Given the description of an element on the screen output the (x, y) to click on. 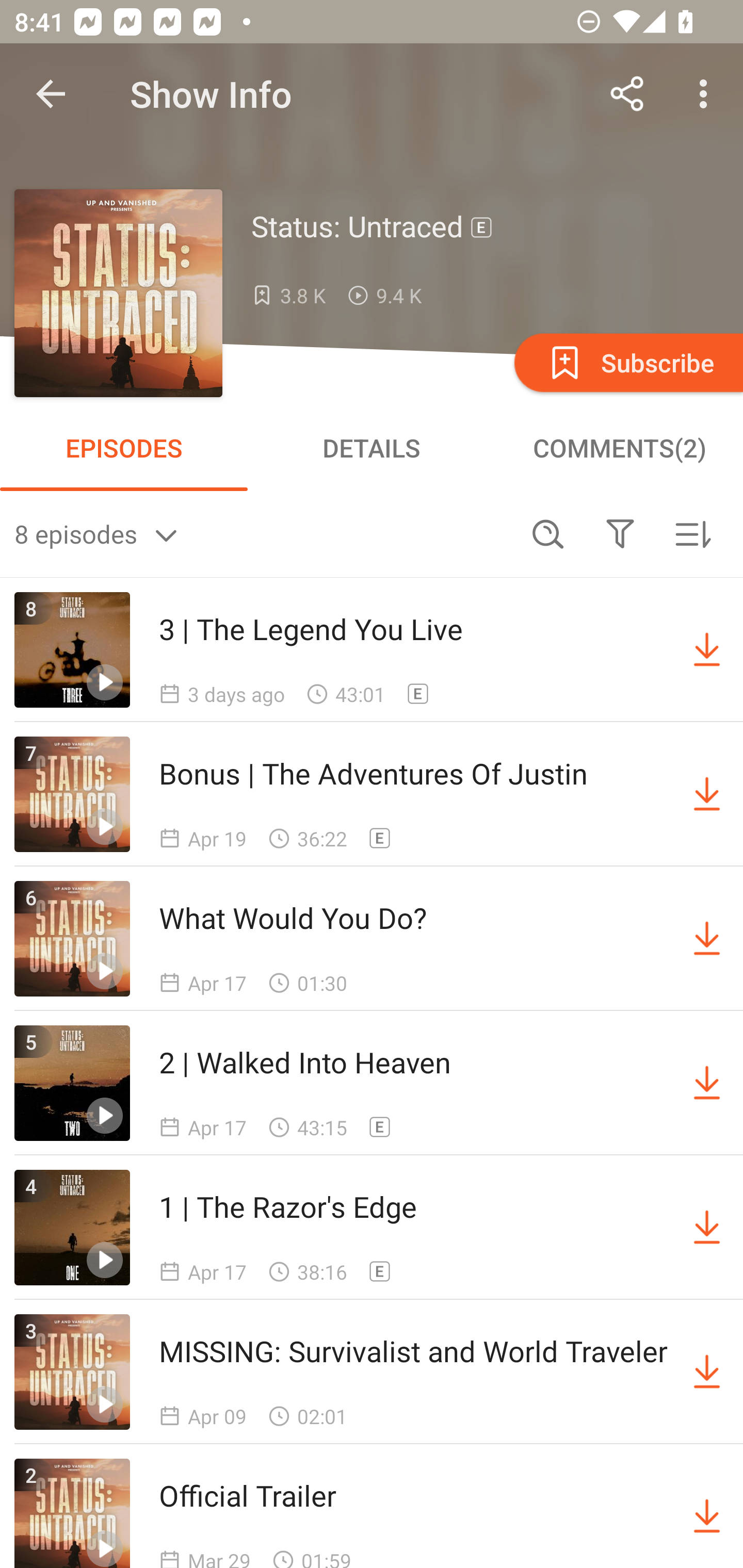
Navigate up (50, 93)
Share (626, 93)
More options (706, 93)
Subscribe (627, 361)
EPISODES (123, 447)
DETAILS (371, 447)
COMMENTS(2) (619, 447)
8 episodes  (262, 533)
 Search (547, 533)
 (619, 533)
 Sorted by newest first (692, 533)
Download (706, 649)
Download (706, 793)
Download (706, 939)
Download (706, 1083)
Download (706, 1227)
Download (706, 1371)
Download (706, 1513)
